Given the description of an element on the screen output the (x, y) to click on. 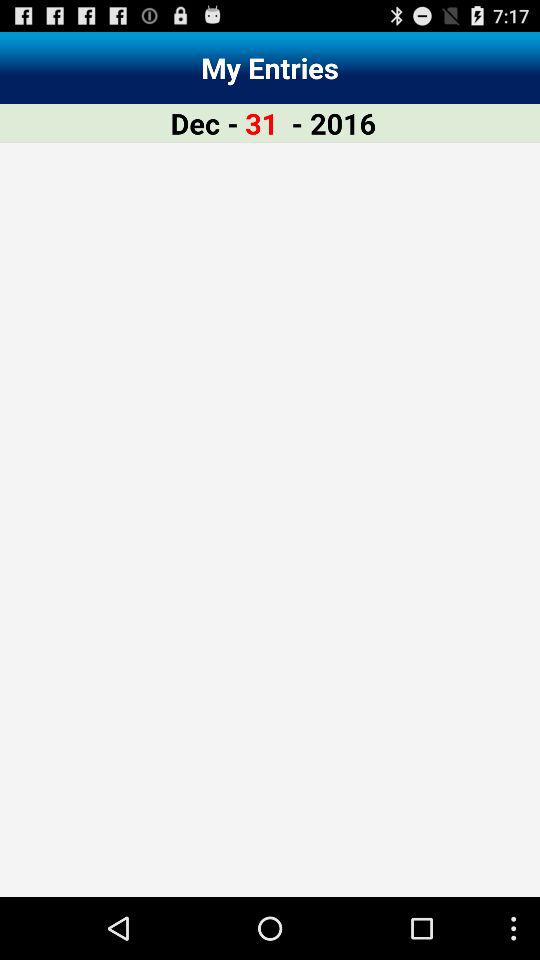
select item next to dec - app (261, 122)
